Given the description of an element on the screen output the (x, y) to click on. 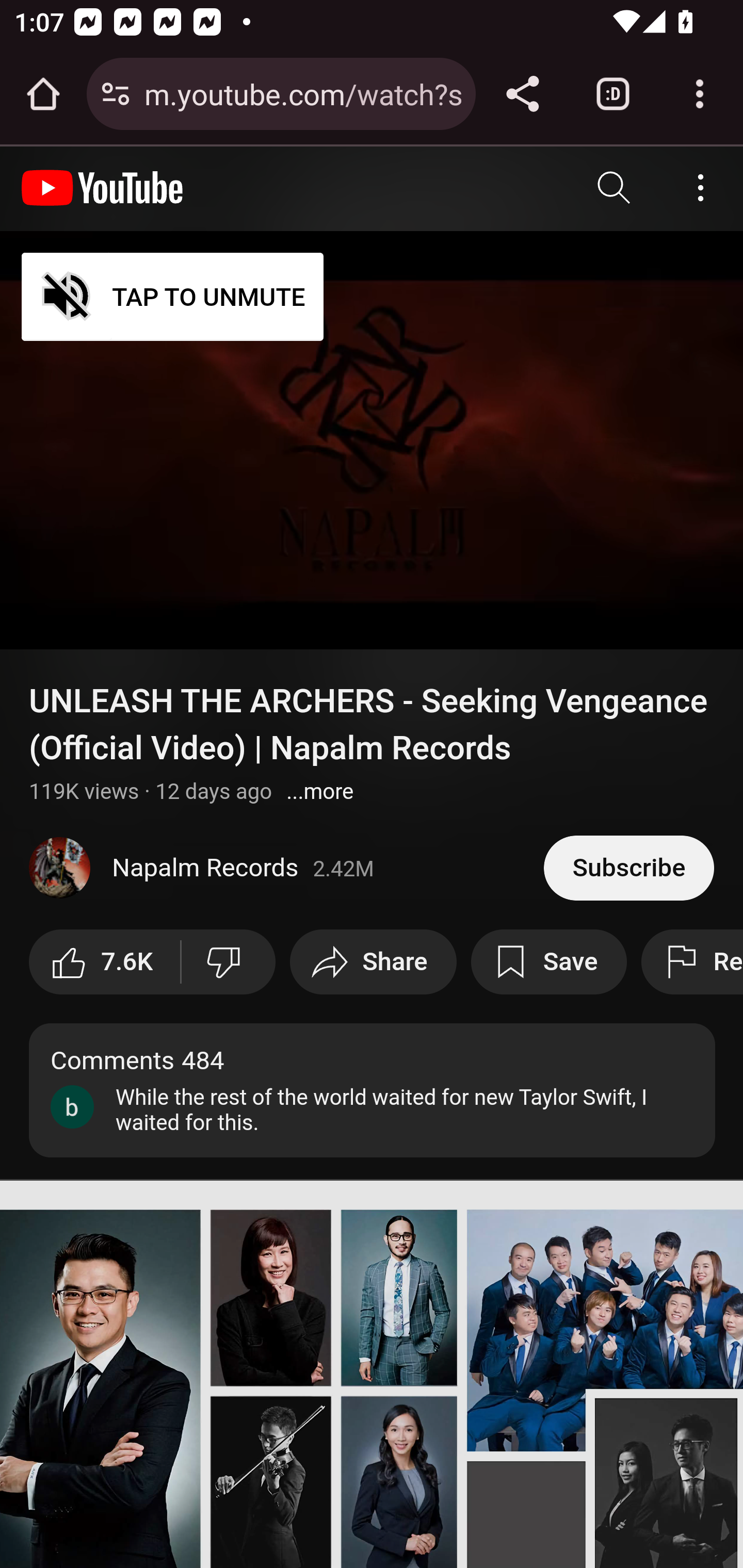
Open the home page (43, 93)
Connection is secure (115, 93)
Share (522, 93)
Switch or close tabs (612, 93)
Customize and control Google Chrome (699, 93)
YouTube (102, 188)
Search YouTube (614, 188)
Account (700, 188)
TAP TO UNMUTE (173, 296)
Show more (320, 790)
Subscribe to Napalm Records. (627, 867)
Napalm Records (286, 867)
like this video along with 7,633 other people (105, 961)
Dislike this video (228, 961)
Share (372, 961)
Save to playlist (548, 961)
Report (690, 961)
Comments (372, 1089)
